Given the description of an element on the screen output the (x, y) to click on. 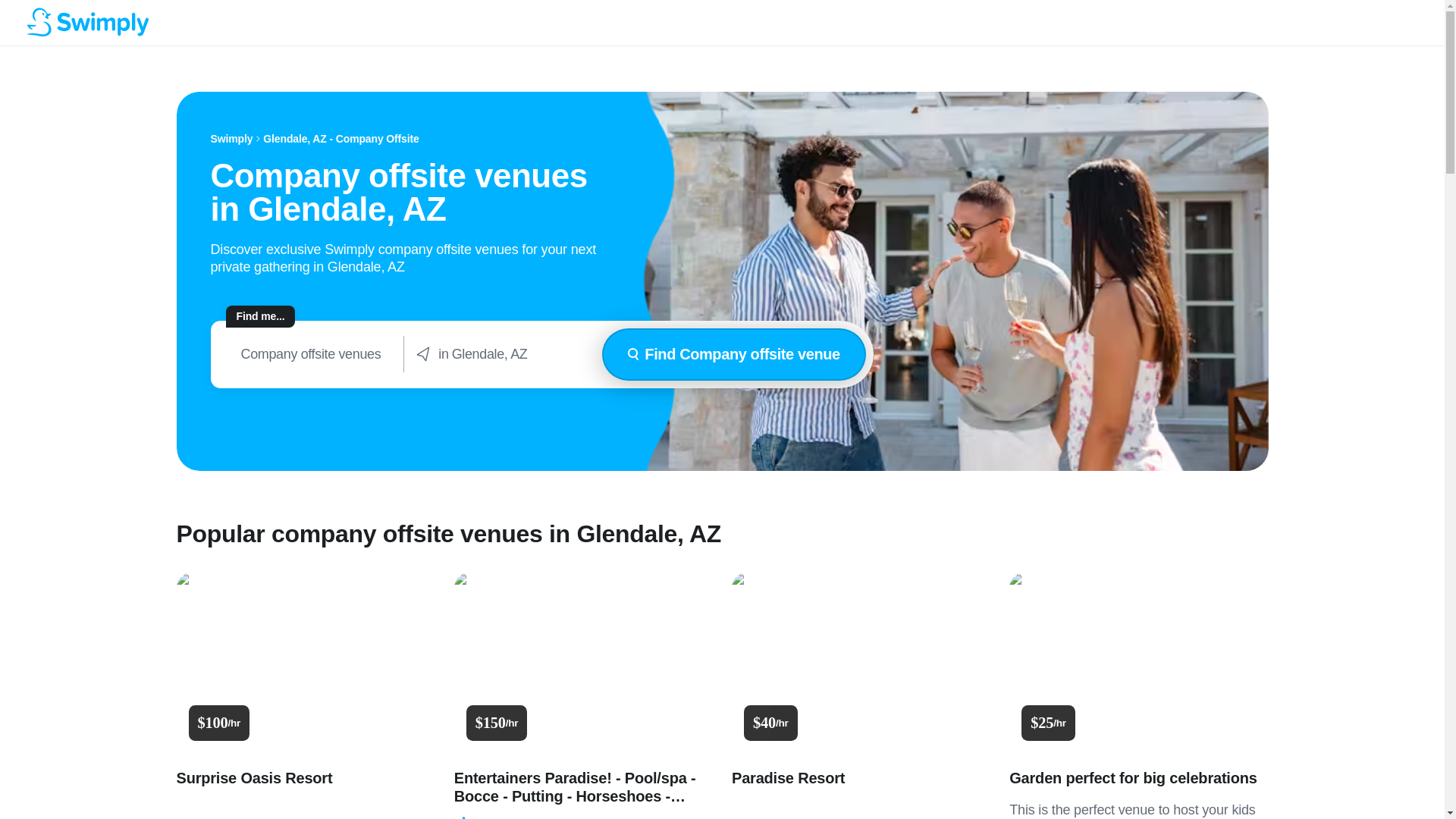
Swimply (232, 138)
Find Company offsite venue (733, 354)
Glendale, AZ - Company Offsite (341, 138)
Company offsite venues (311, 354)
